Given the description of an element on the screen output the (x, y) to click on. 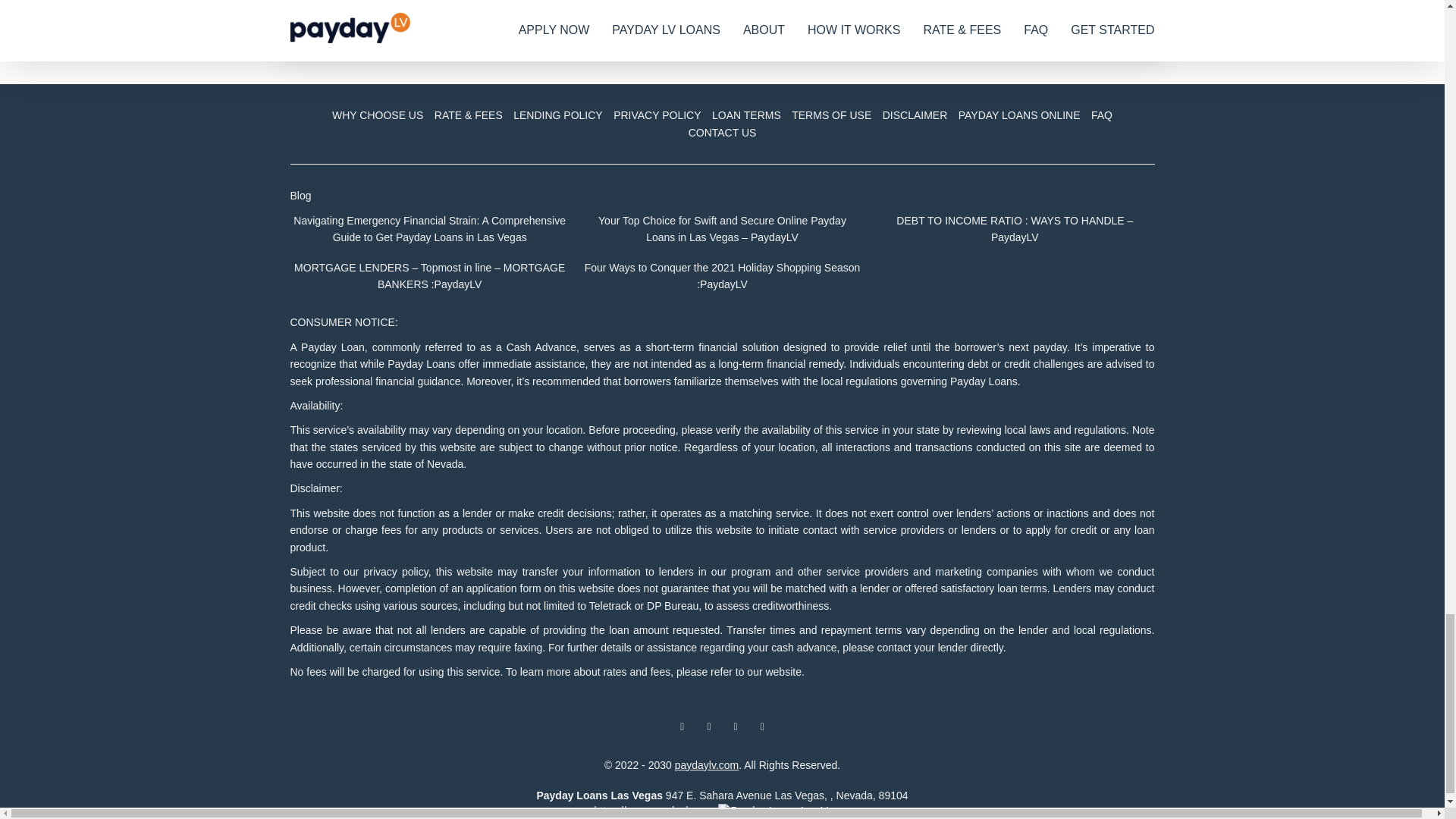
CONTACT US (722, 132)
PRIVACY POLICY (657, 114)
LOAN TERMS (745, 114)
DISCLAIMER (915, 114)
Payday Loans Las Vegas (598, 795)
LENDING POLICY (557, 114)
paydaylv.com (707, 765)
WHY CHOOSE US (377, 114)
TERMS OF USE (831, 114)
FAQ (1101, 114)
PAYDAY LOANS ONLINE (1019, 114)
